Given the description of an element on the screen output the (x, y) to click on. 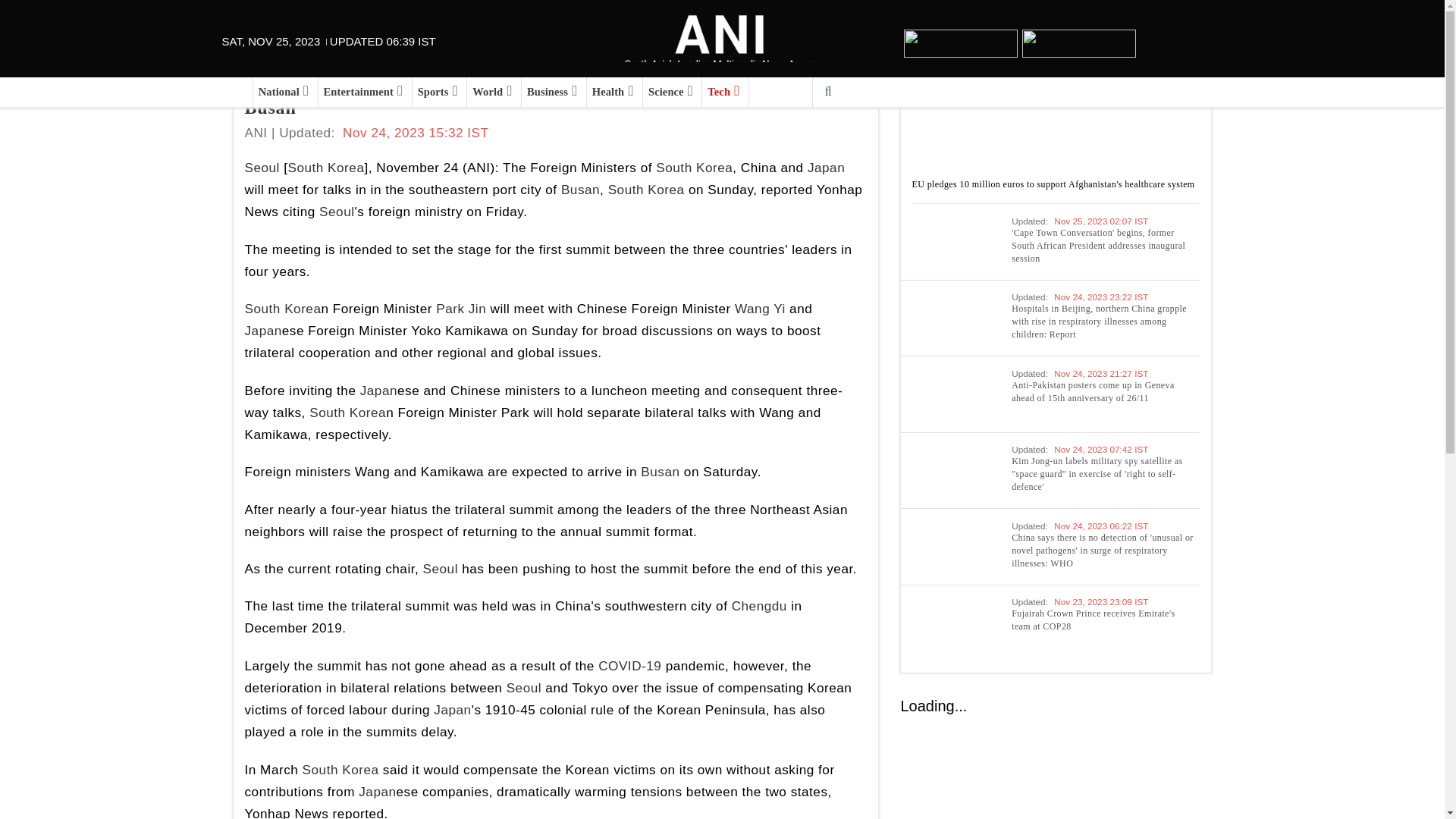
Entertainment (358, 91)
Business (547, 91)
National (278, 91)
Health (608, 91)
World (487, 91)
Science (665, 91)
Videos (776, 91)
Sports (432, 91)
